Given the description of an element on the screen output the (x, y) to click on. 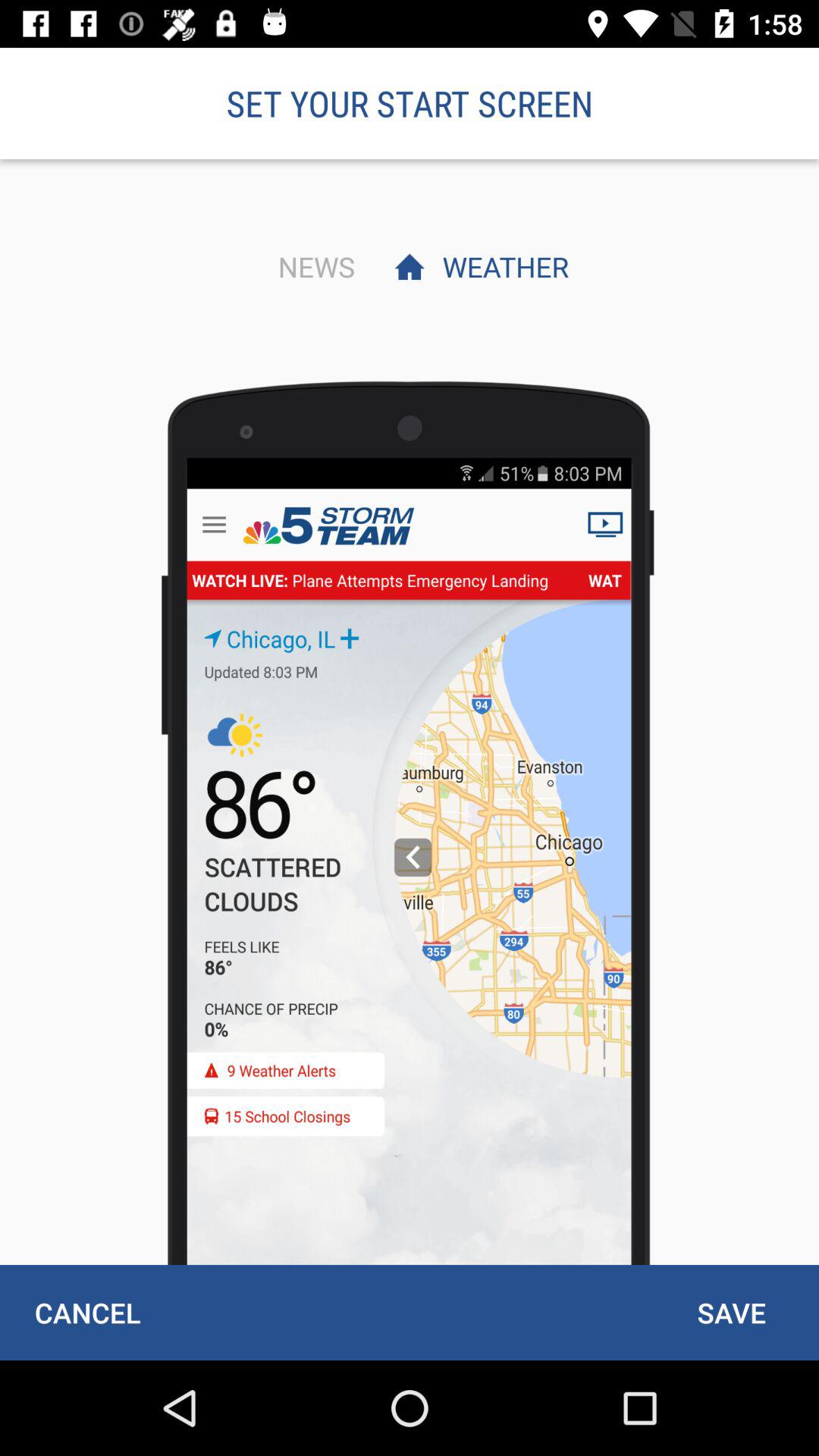
tap the icon next to cancel icon (731, 1312)
